Given the description of an element on the screen output the (x, y) to click on. 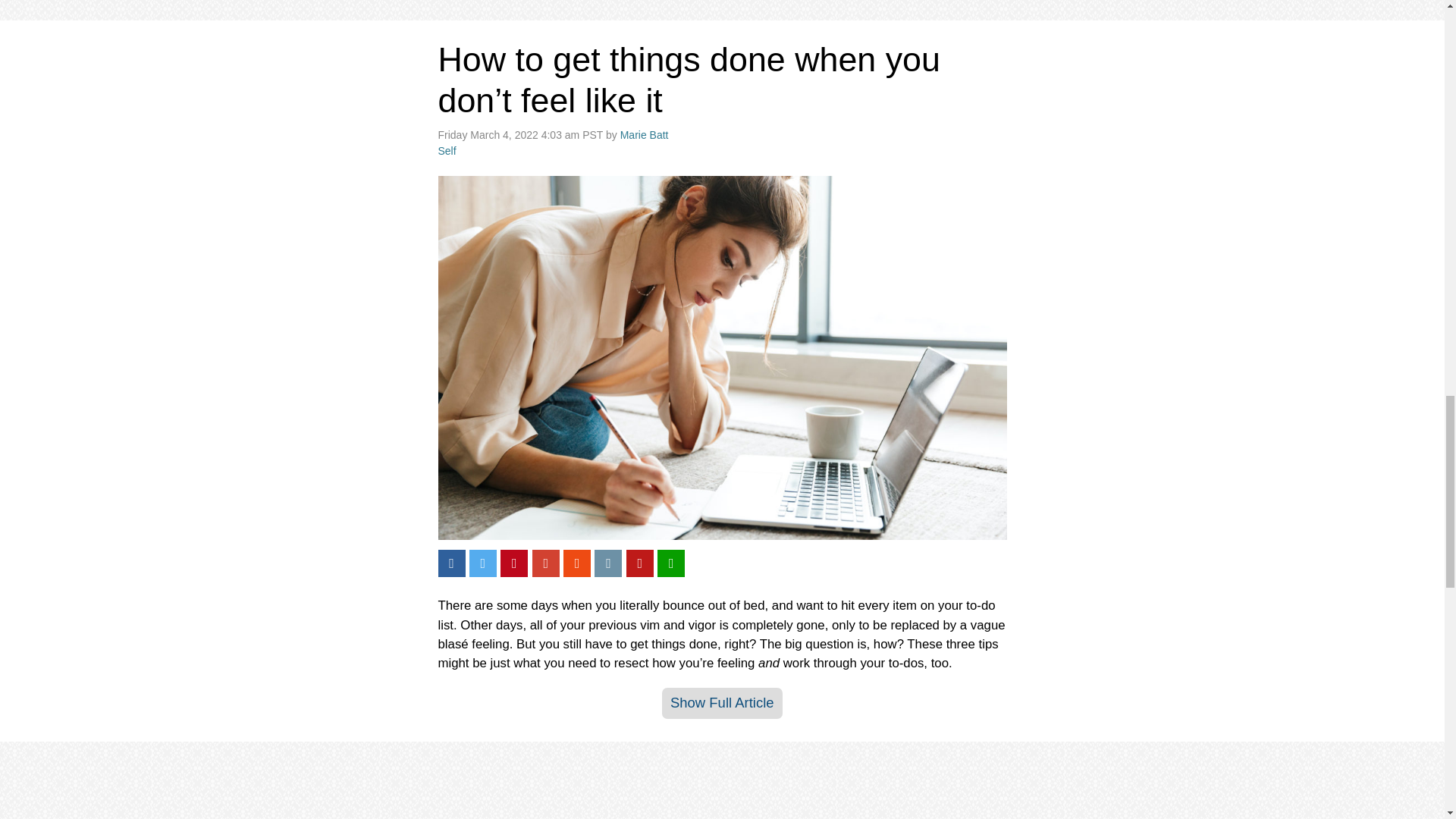
Posts by Marie Batt (644, 134)
Self Tag (447, 150)
3rd party ad content (721, 787)
